Given the description of an element on the screen output the (x, y) to click on. 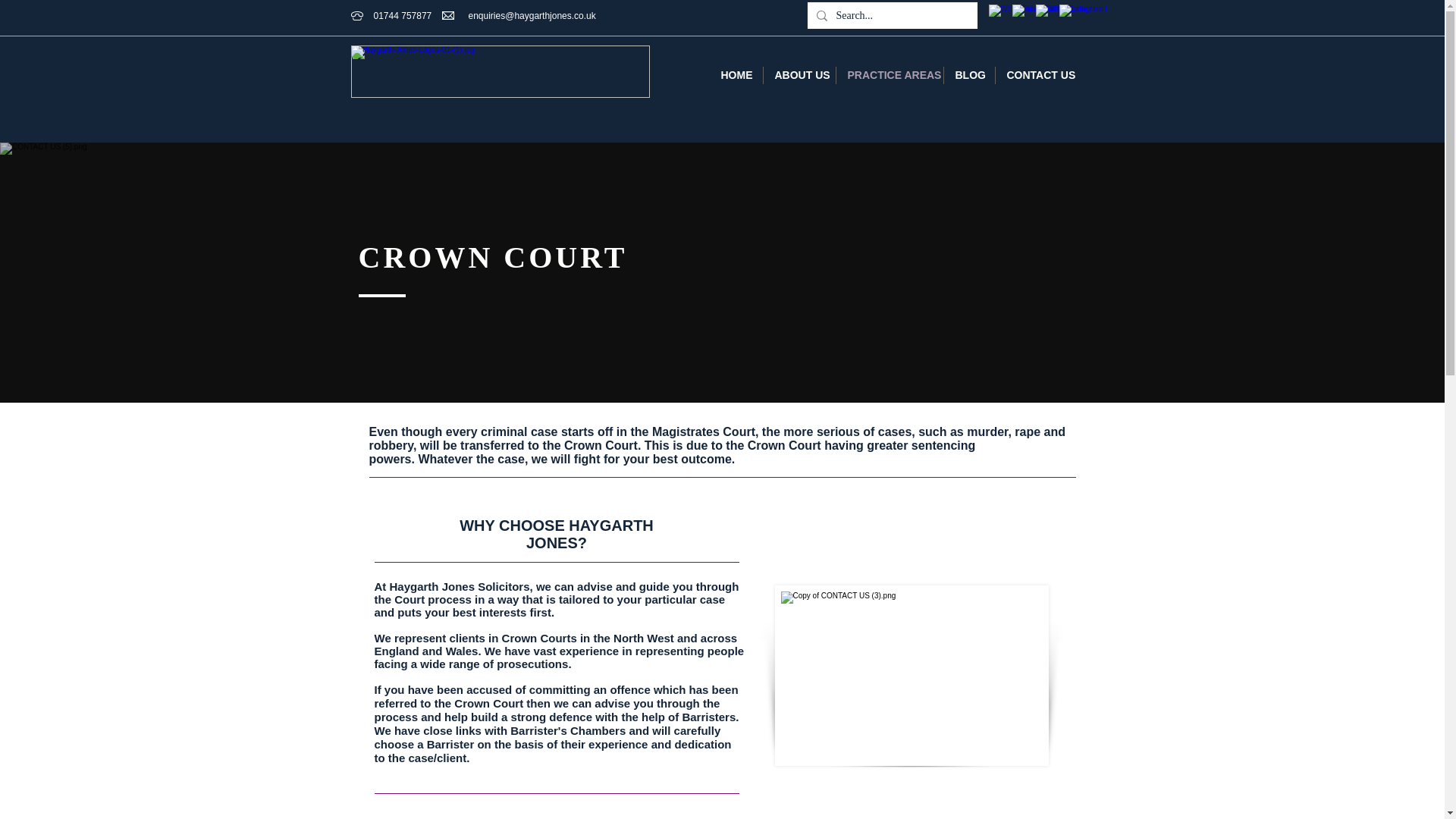
BLOG (968, 75)
ABOUT US (798, 75)
HOME (736, 75)
CONTACT US (1037, 75)
01744 757877 (401, 15)
PRACTICE AREAS (888, 75)
